Given the description of an element on the screen output the (x, y) to click on. 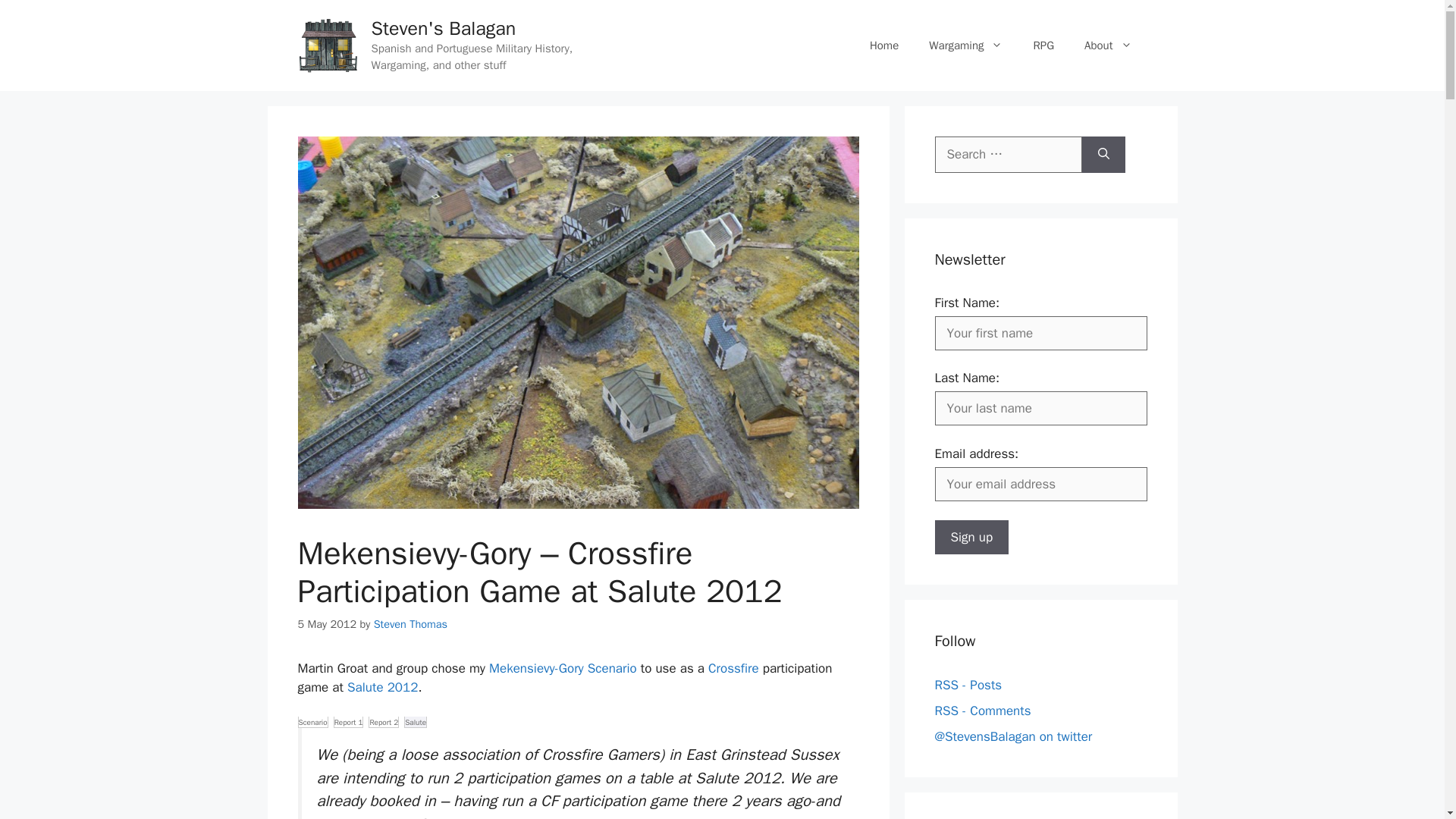
View all posts by Steven Thomas (410, 623)
Sign up (971, 537)
About (1107, 44)
Mekensievy-Gory Scenario (563, 668)
Steven Thomas (410, 623)
Report 2 (383, 722)
Search for: (1007, 154)
RPG (1042, 44)
Salute 2012 (382, 687)
Steven's Balagan (443, 28)
Wargaming (965, 44)
Report 1 (348, 722)
Home (884, 44)
Scenario (312, 722)
Salute (415, 722)
